Given the description of an element on the screen output the (x, y) to click on. 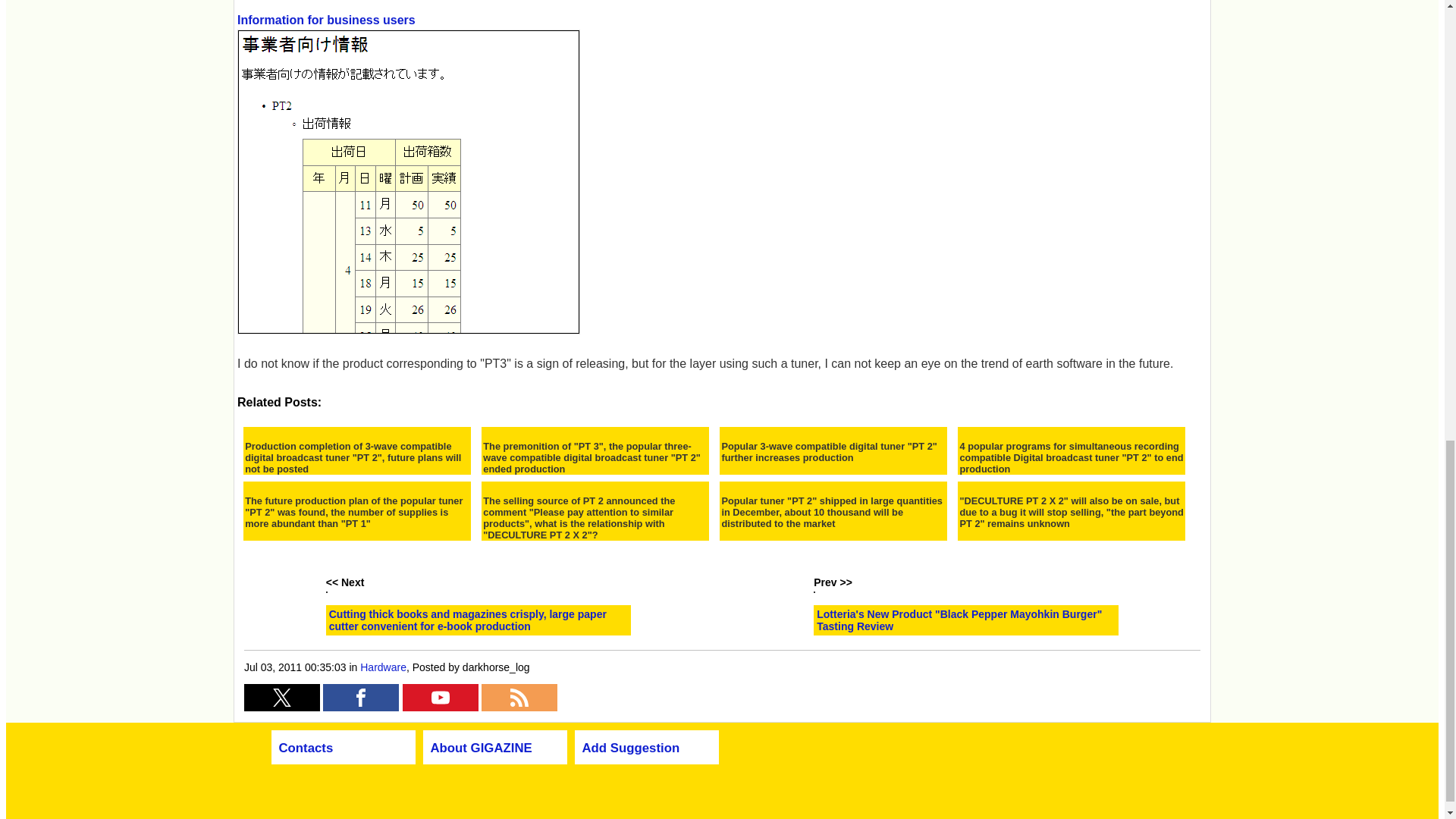
Information for business users (408, 172)
Add Suggestion (630, 748)
Hardware (382, 666)
